Given the description of an element on the screen output the (x, y) to click on. 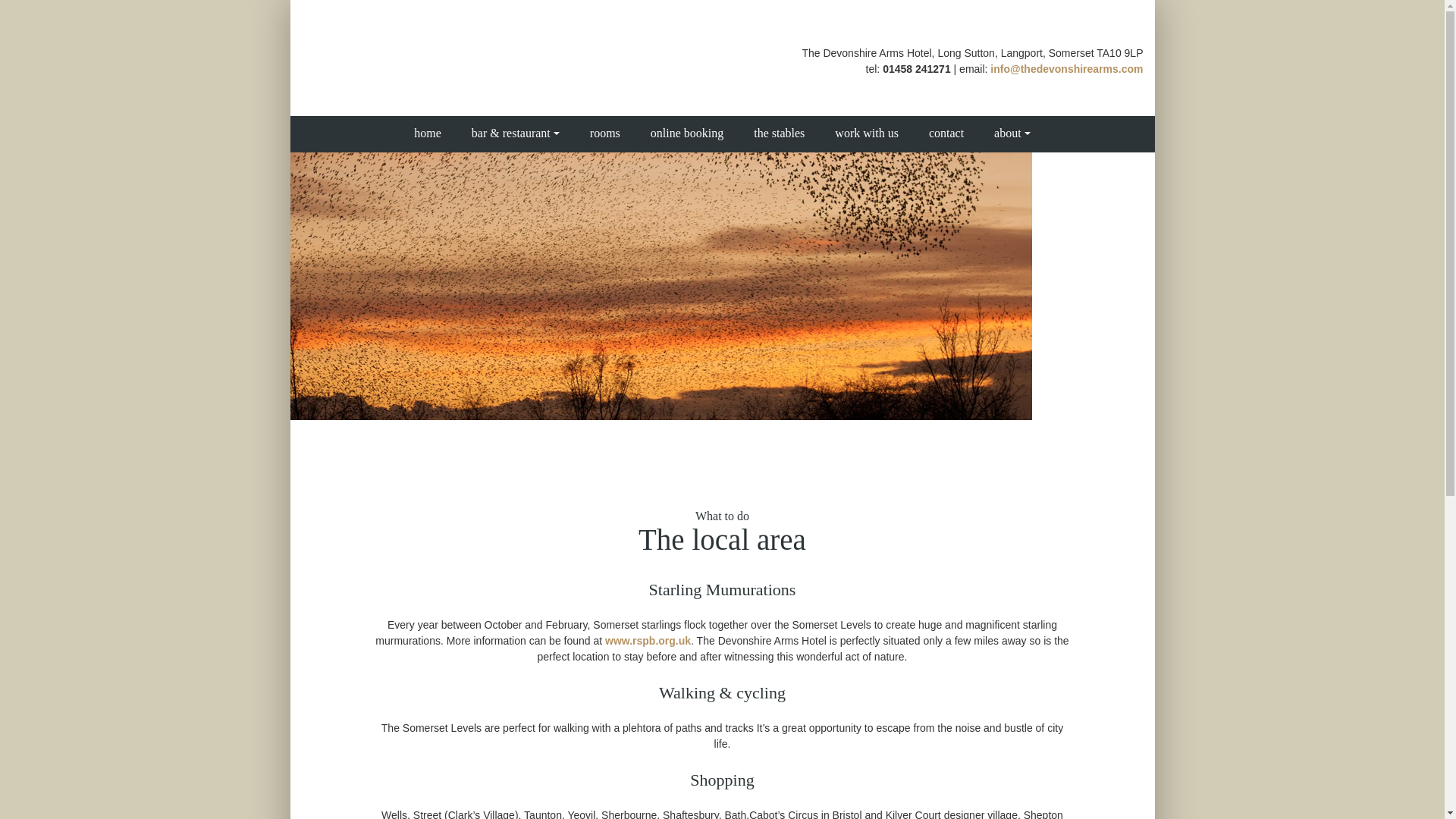
work with us (866, 134)
about (1011, 134)
contact (946, 134)
www.rspb.org.uk (647, 640)
home (427, 134)
online booking (686, 134)
the stables (778, 134)
rooms (604, 134)
